Given the description of an element on the screen output the (x, y) to click on. 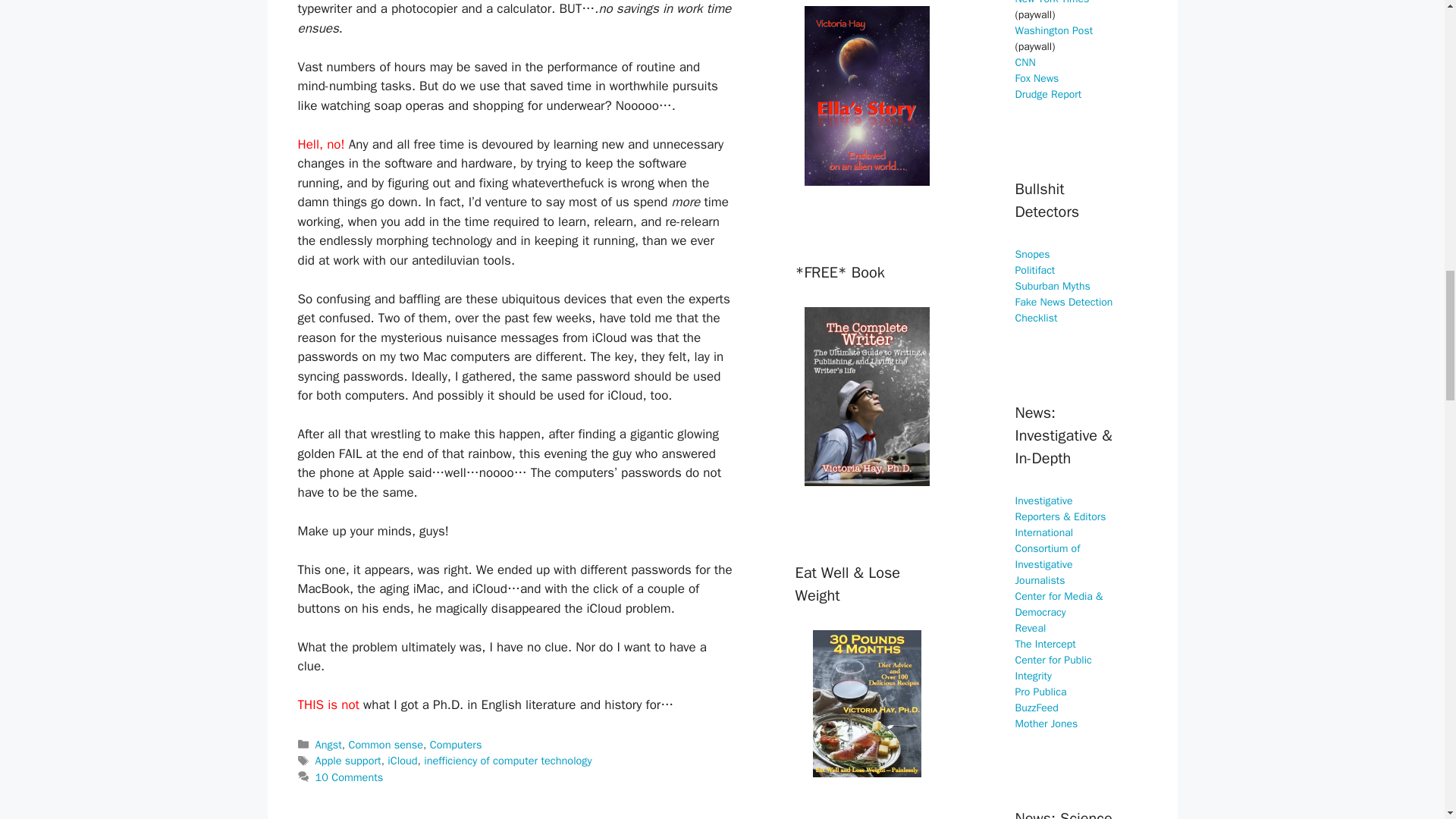
10 Comments (349, 776)
Angst (328, 744)
iCloud (401, 760)
Apple support (348, 760)
Common sense (385, 744)
Computers (455, 744)
inefficiency of computer technology (507, 760)
